Given the description of an element on the screen output the (x, y) to click on. 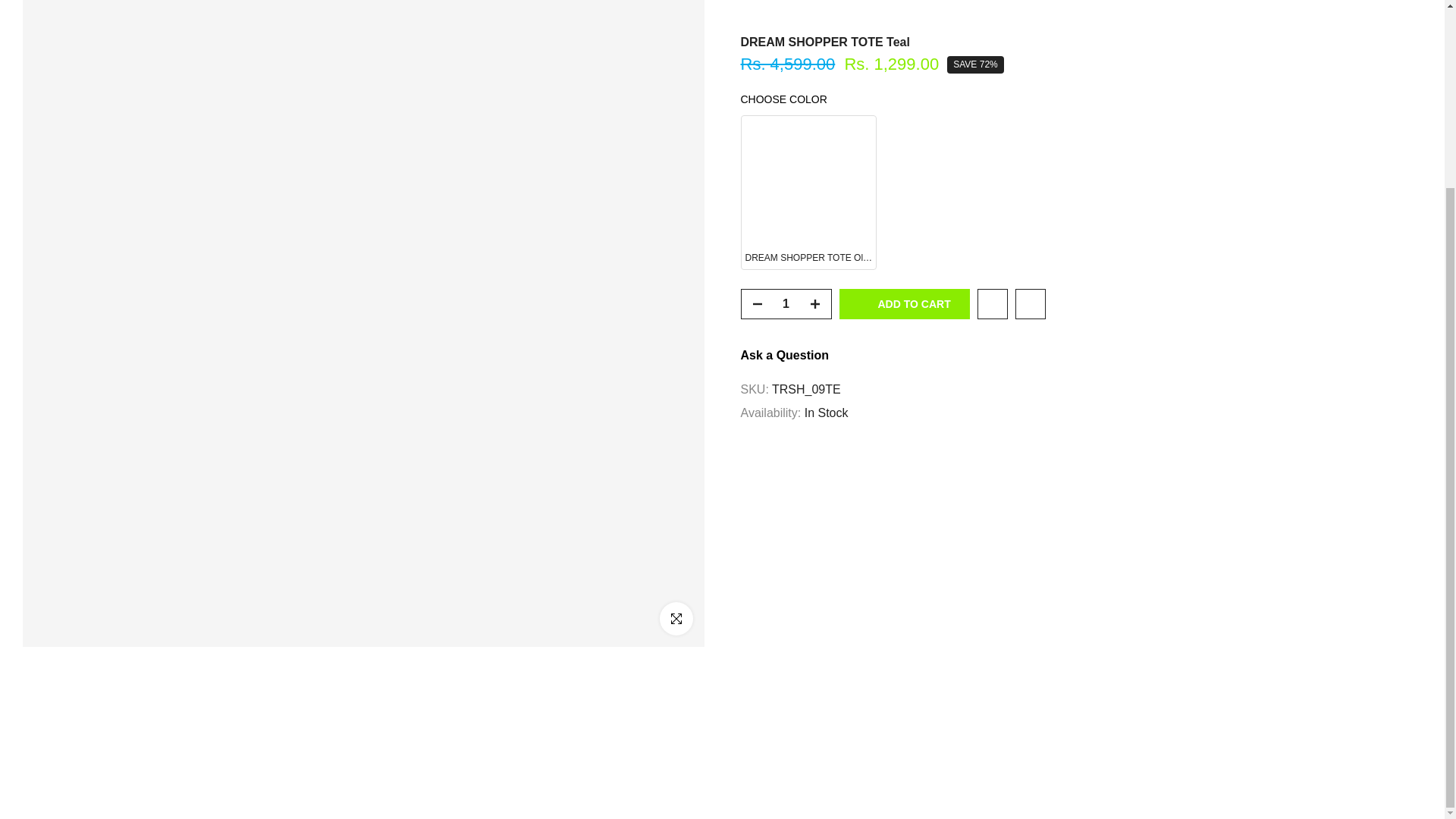
DREAM SHOPPER TOTE Olive Green (808, 121)
ADD TO CART (903, 232)
Ask a Question (783, 283)
DREAM SHOPPER TOTE Olive Green (808, 121)
DREAM SHOPPER TOTE Olive Green (1080, 121)
1 (786, 232)
